Given the description of an element on the screen output the (x, y) to click on. 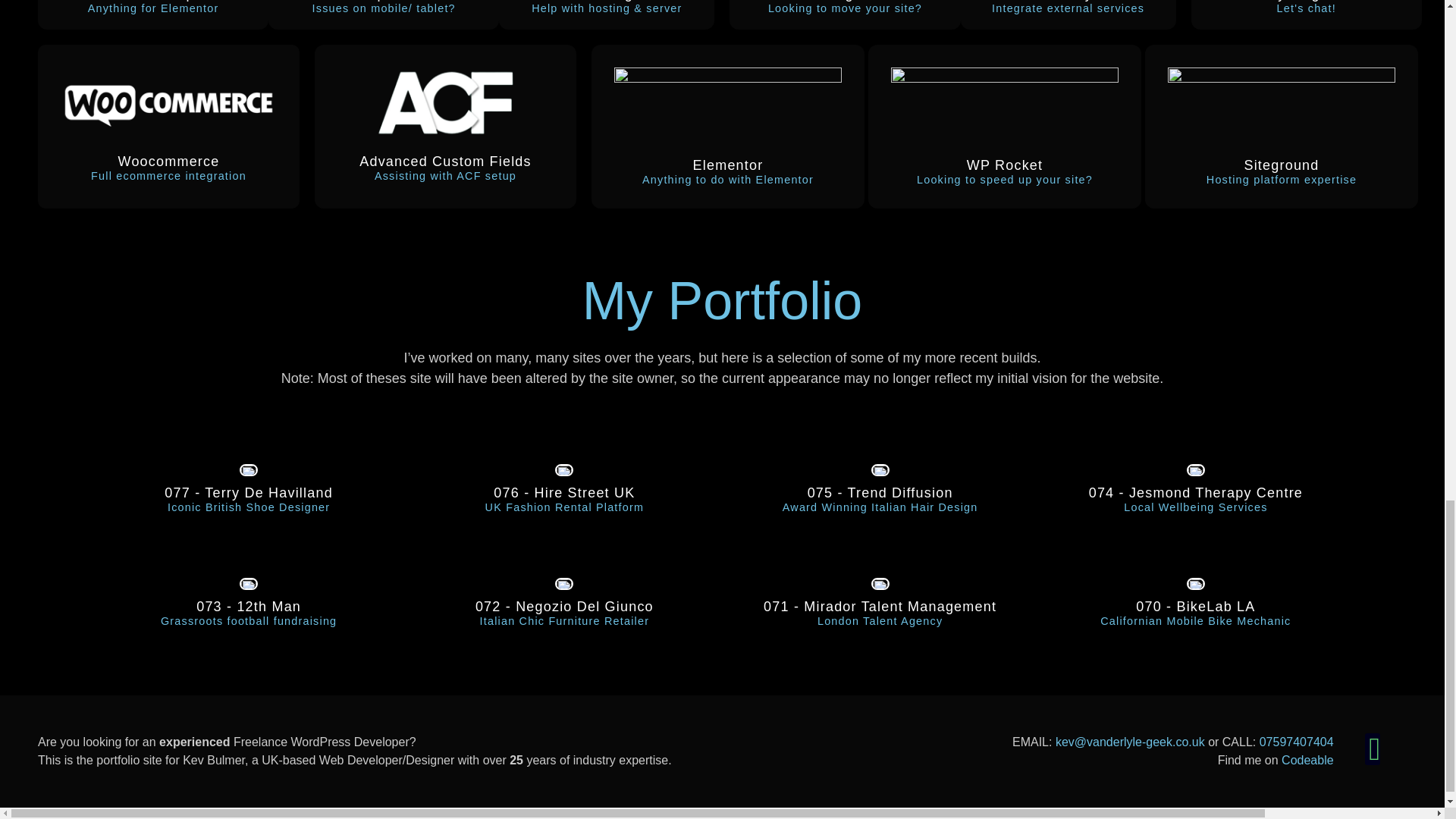
Codeable (248, 613)
07597407404 (1307, 759)
